Given the description of an element on the screen output the (x, y) to click on. 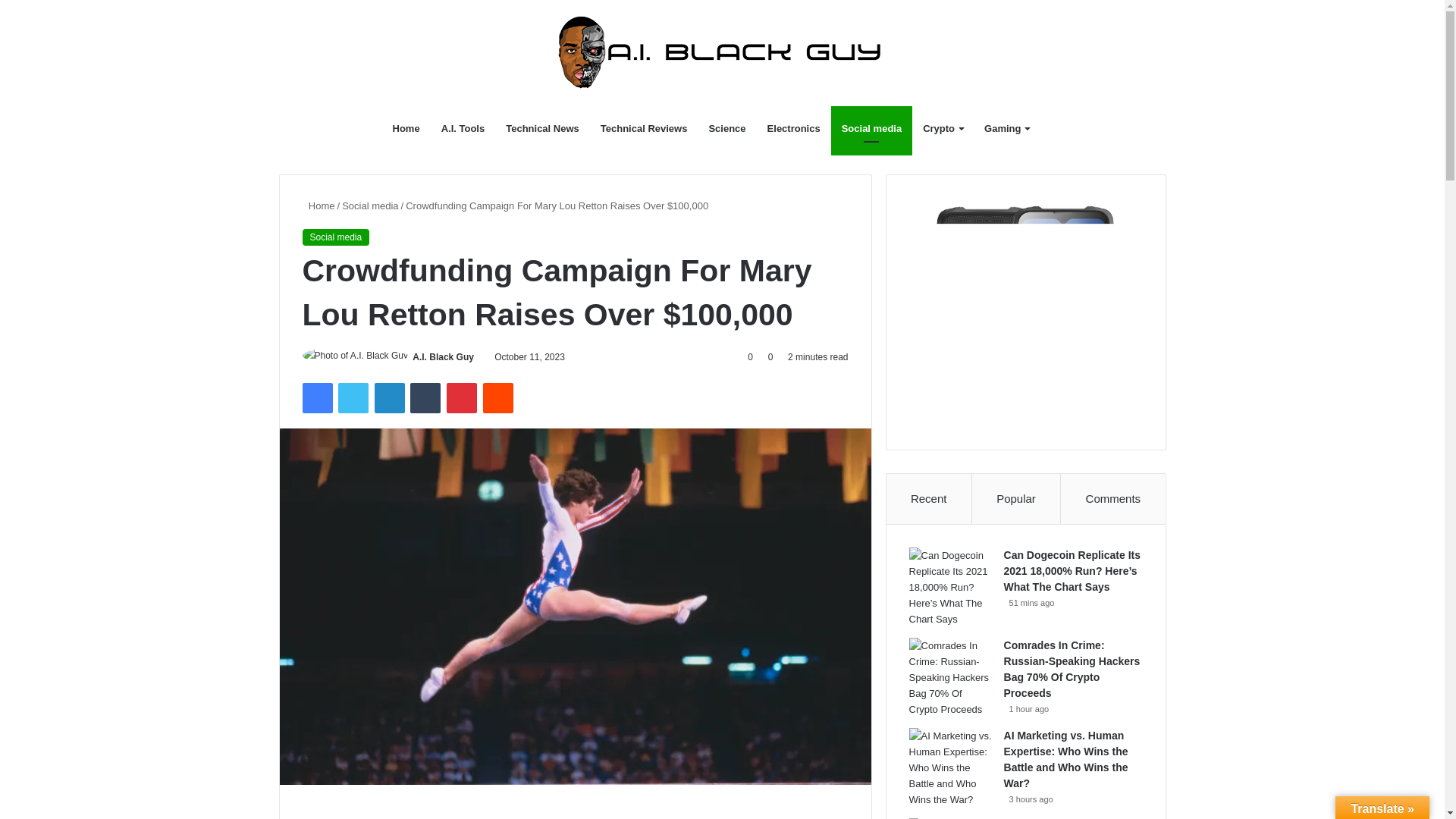
Gaming (1006, 128)
Pinterest (461, 398)
Social media (335, 237)
LinkedIn (389, 398)
Twitter (352, 398)
Tumblr (425, 398)
A.I. Black Guy (443, 357)
Reddit (498, 398)
A.I. Tools (463, 128)
Pinterest (461, 398)
Twitter (352, 398)
LinkedIn (389, 398)
Crypto (943, 128)
Tumblr (425, 398)
Reddit (498, 398)
